Given the description of an element on the screen output the (x, y) to click on. 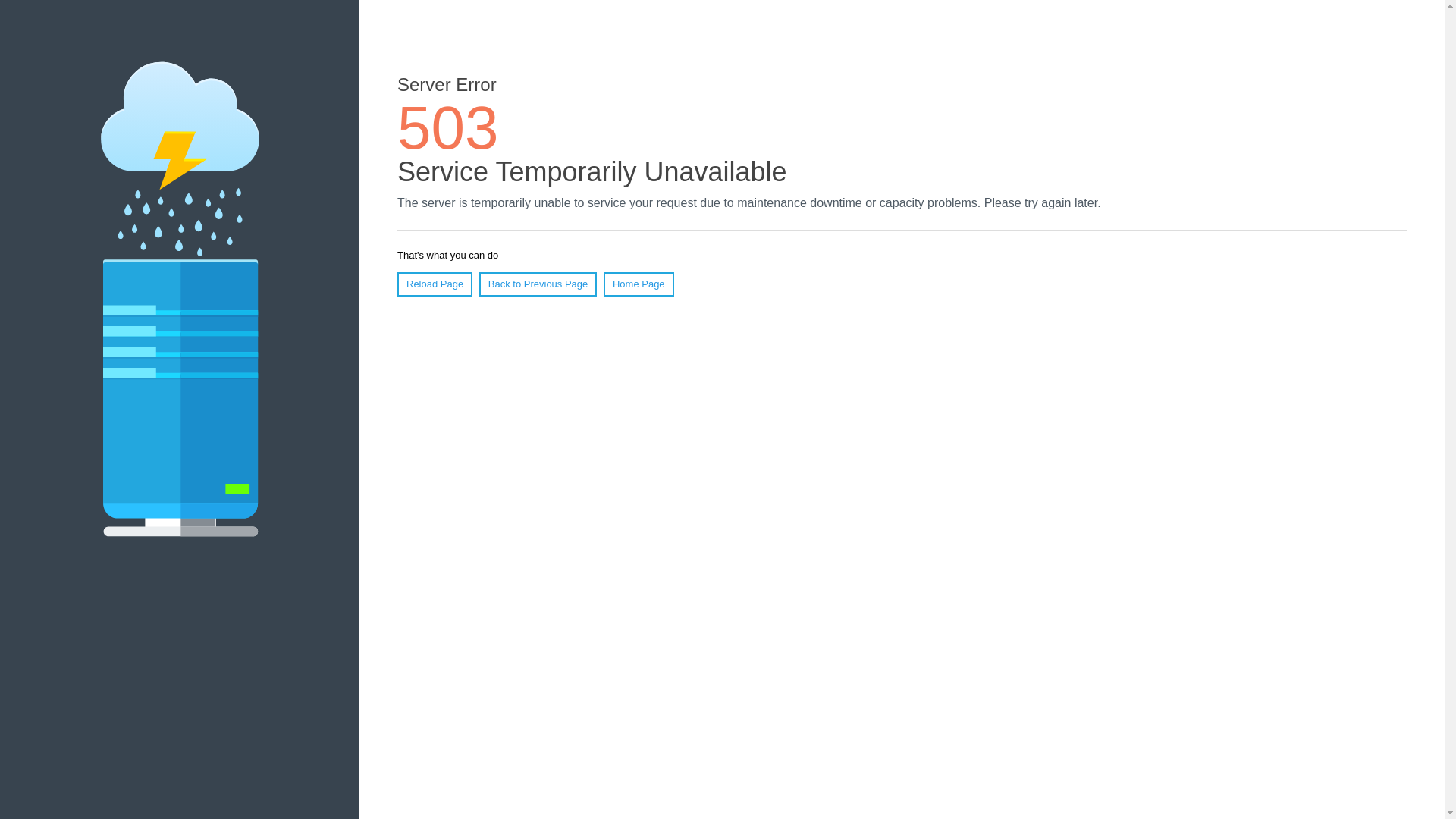
Home Page (639, 283)
Back to Previous Page (537, 283)
Reload Page (434, 283)
